Given the description of an element on the screen output the (x, y) to click on. 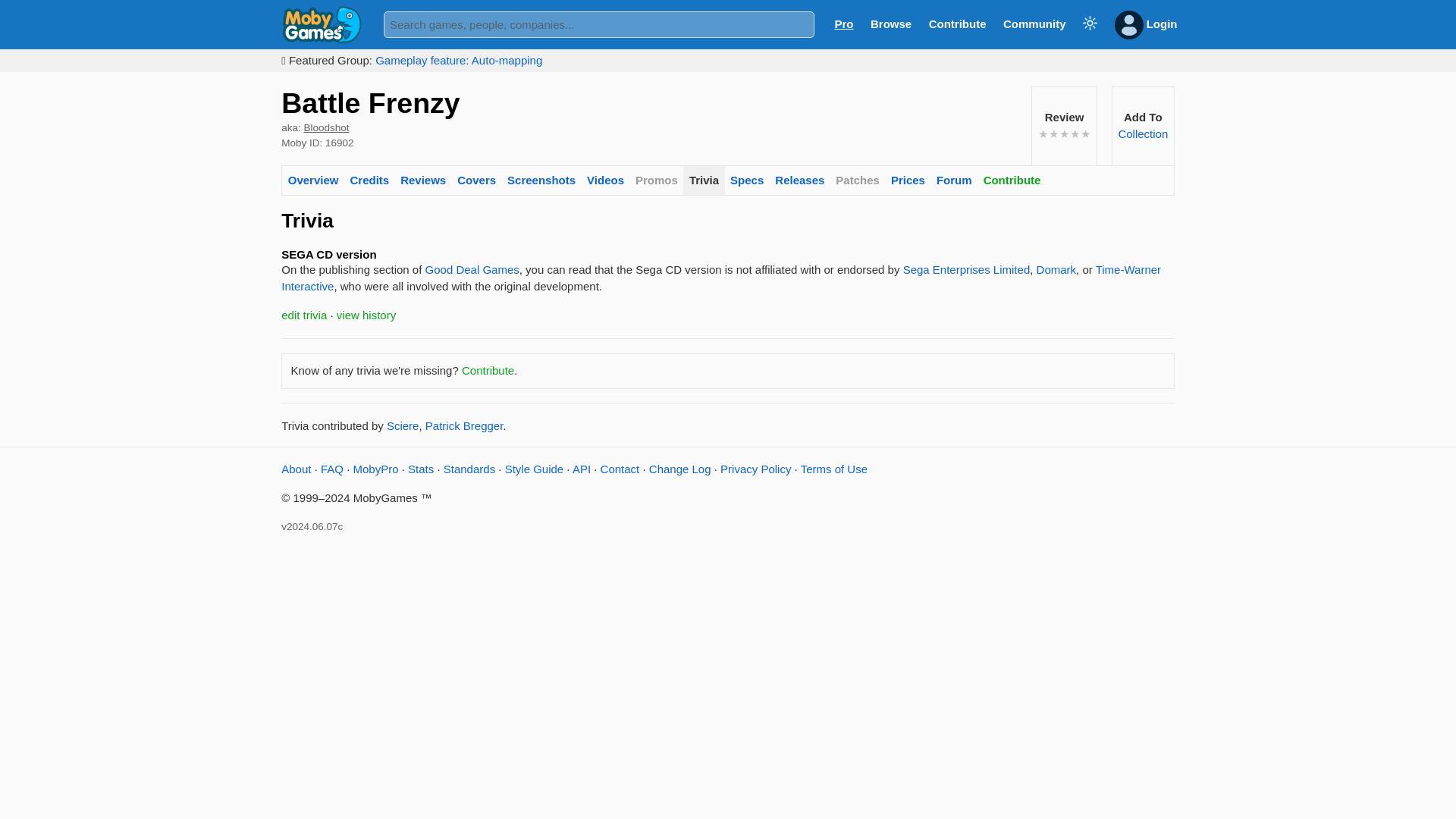
Gameplay feature: Auto-mapping (458, 60)
Screenshots (541, 180)
Pro (843, 23)
Videos (605, 180)
Credits (368, 180)
Collection (1142, 133)
Overview (312, 180)
Covers (476, 180)
Reviews (422, 180)
